Given the description of an element on the screen output the (x, y) to click on. 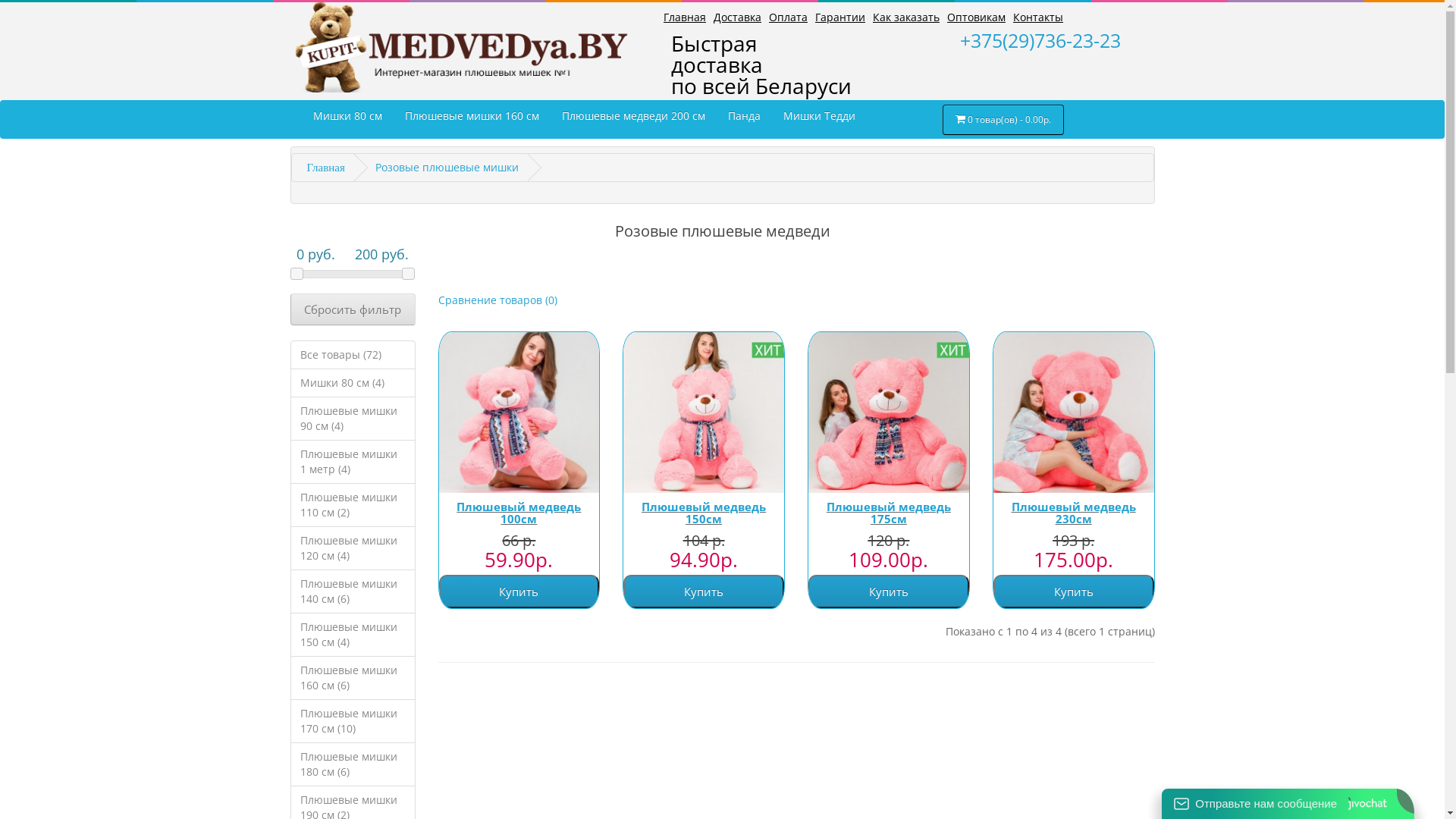
+375(29)736-23-23 Element type: text (1051, 39)
